Given the description of an element on the screen output the (x, y) to click on. 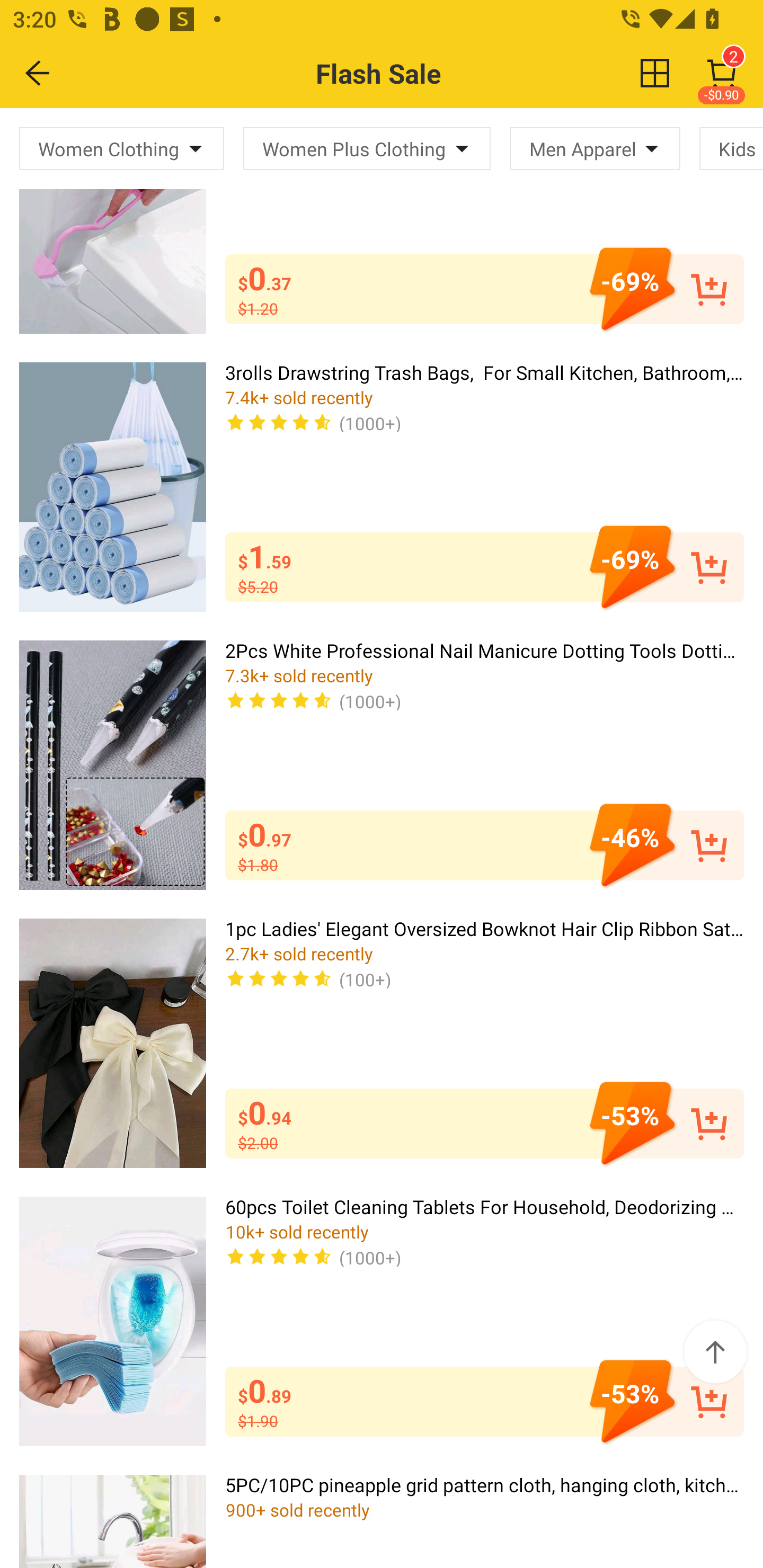
Flash Sale change view 2 -$0.90 (419, 72)
2 -$0.90 (721, 72)
change view (654, 72)
BACK (38, 72)
Women Clothing (121, 148)
Women Plus Clothing (366, 148)
Men Apparel (594, 148)
Kids (731, 148)
Back to top (714, 1351)
